Given the description of an element on the screen output the (x, y) to click on. 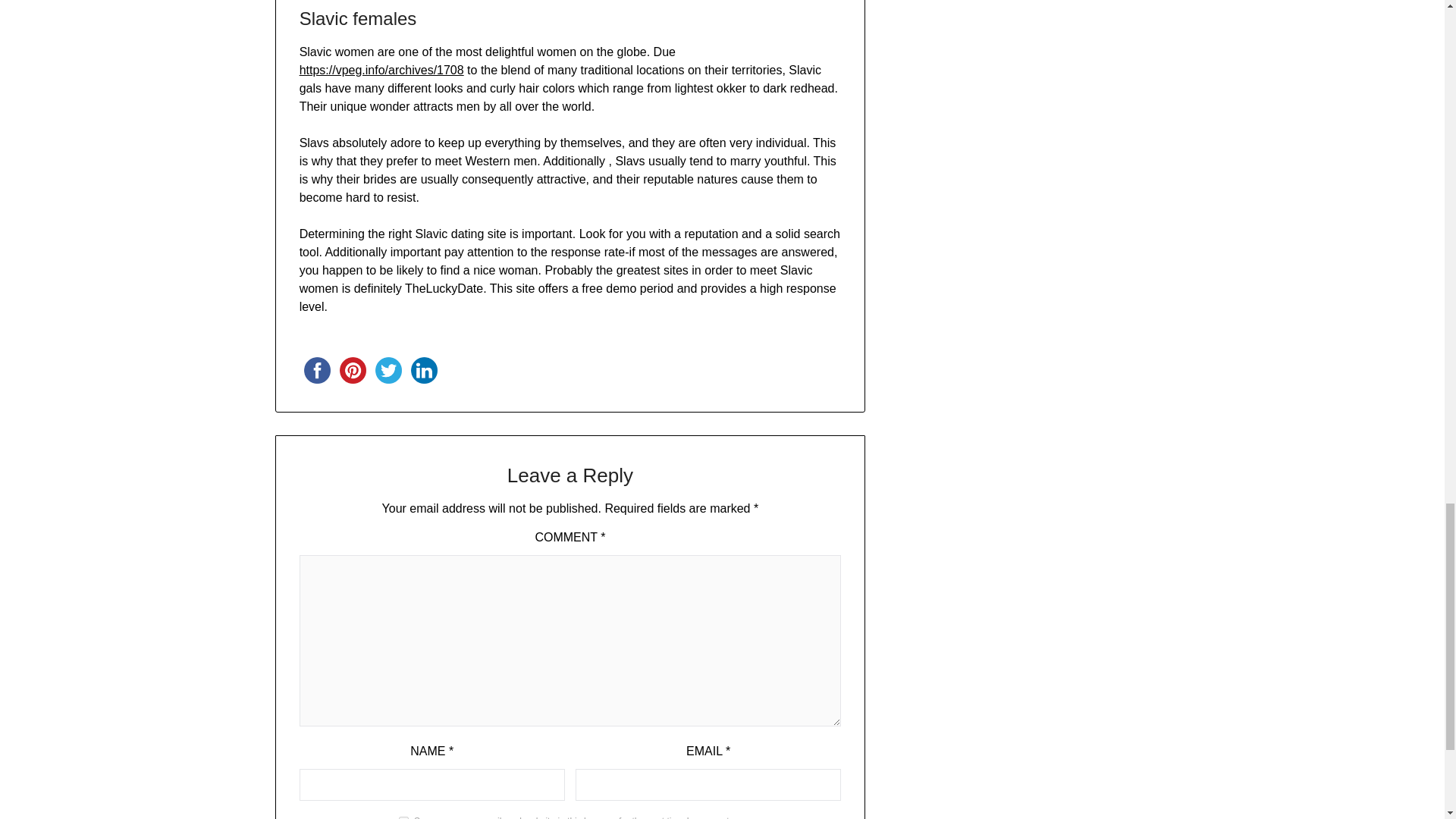
Pinterest (352, 370)
Twitter (388, 370)
LinkedIn (424, 370)
Facebook (316, 370)
